Given the description of an element on the screen output the (x, y) to click on. 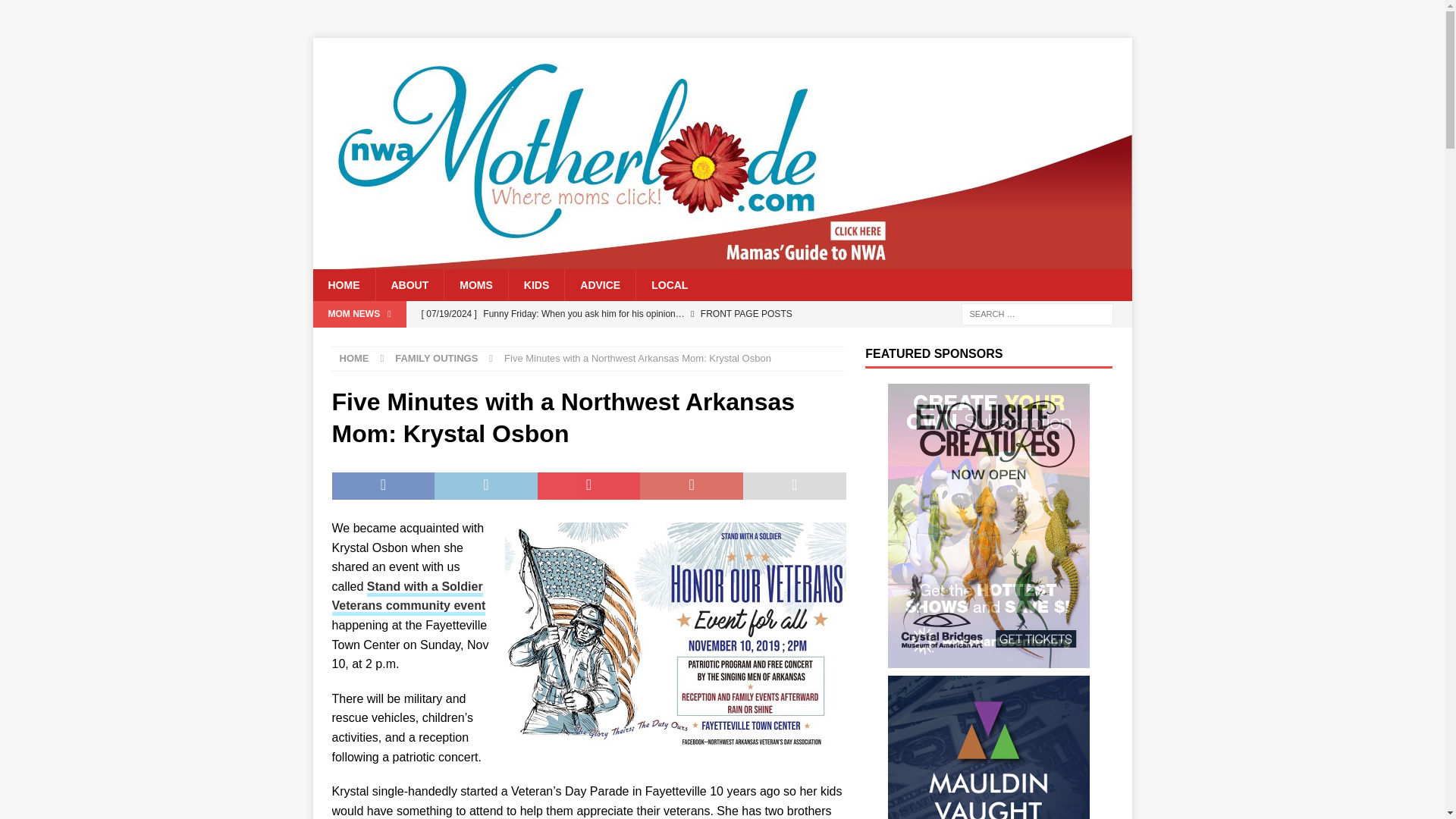
HOME (354, 357)
ABOUT (409, 285)
Search (56, 11)
ADVICE (599, 285)
FAMILY OUTINGS (435, 357)
LOCAL (668, 285)
MOMS (476, 285)
HOME (343, 285)
KIDS (536, 285)
Stand with a Soldier Veterans community event (408, 597)
